Given the description of an element on the screen output the (x, y) to click on. 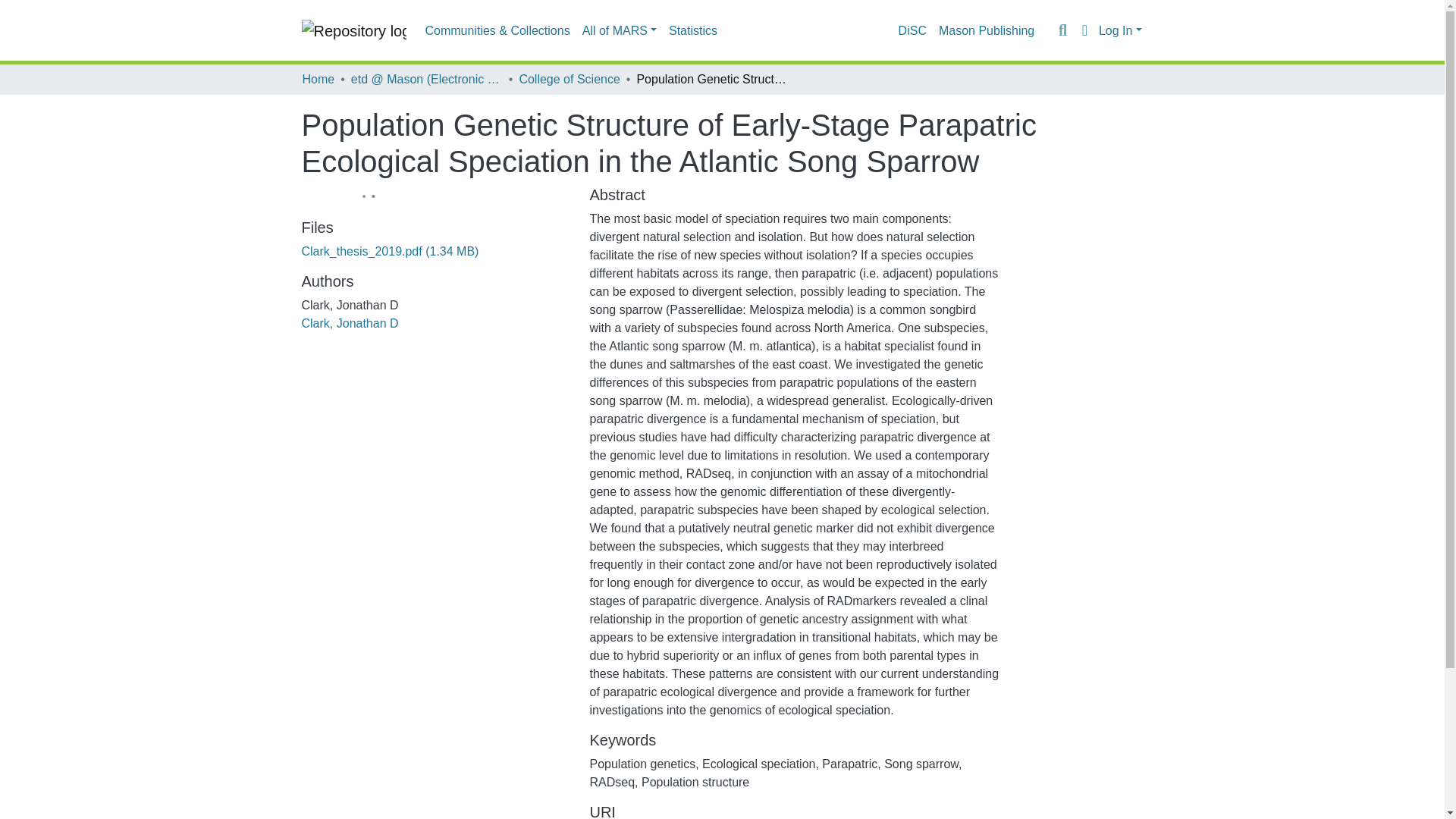
Log In (1119, 30)
Home (317, 79)
Search (1061, 30)
All of MARS (619, 30)
Statistics (692, 30)
Clark, Jonathan D (349, 323)
Statistics (692, 30)
Mason Publishing (987, 30)
Language switch (1084, 30)
College of Science (569, 79)
